Given the description of an element on the screen output the (x, y) to click on. 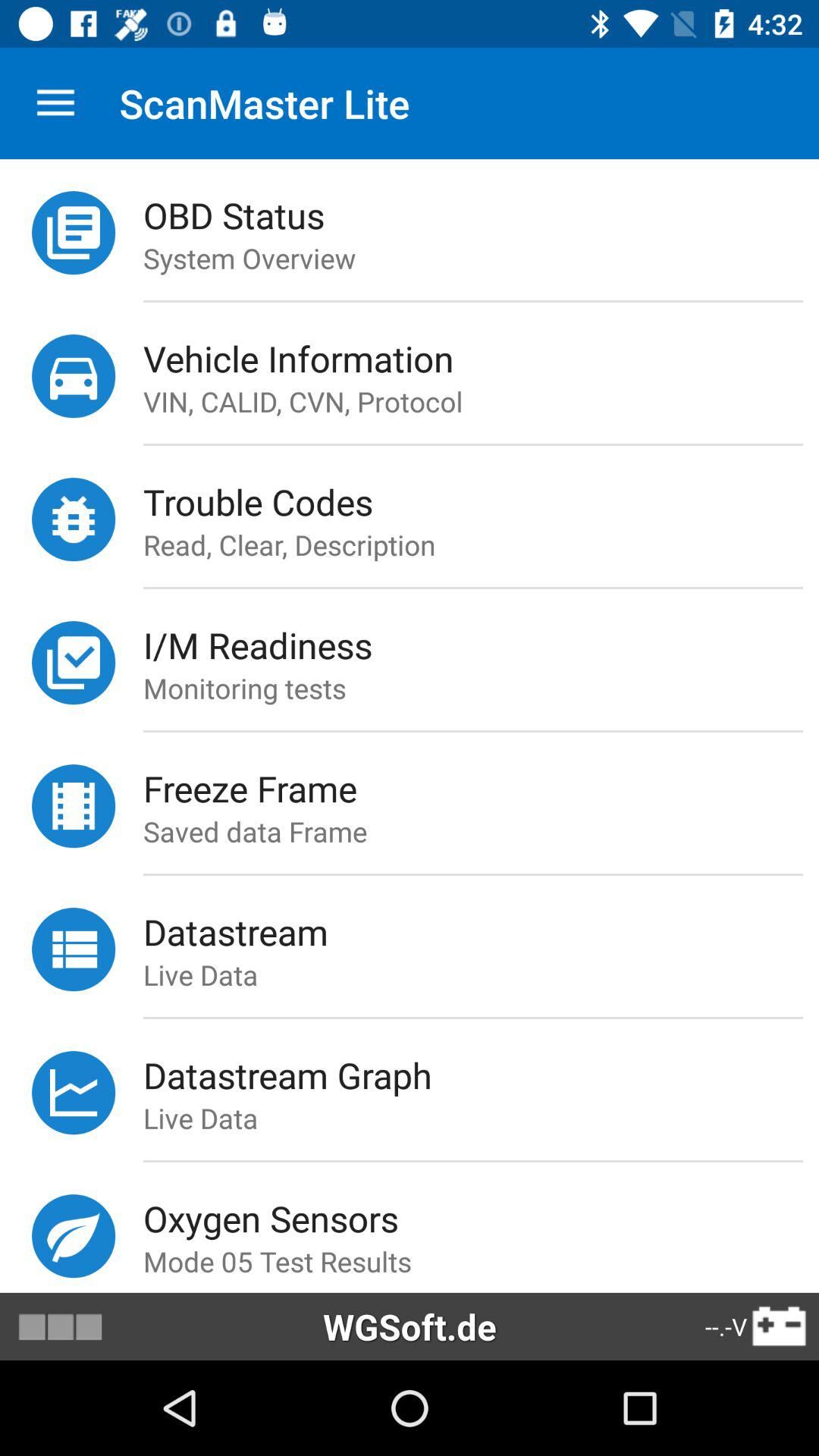
select icon below freeze frame (481, 831)
